Given the description of an element on the screen output the (x, y) to click on. 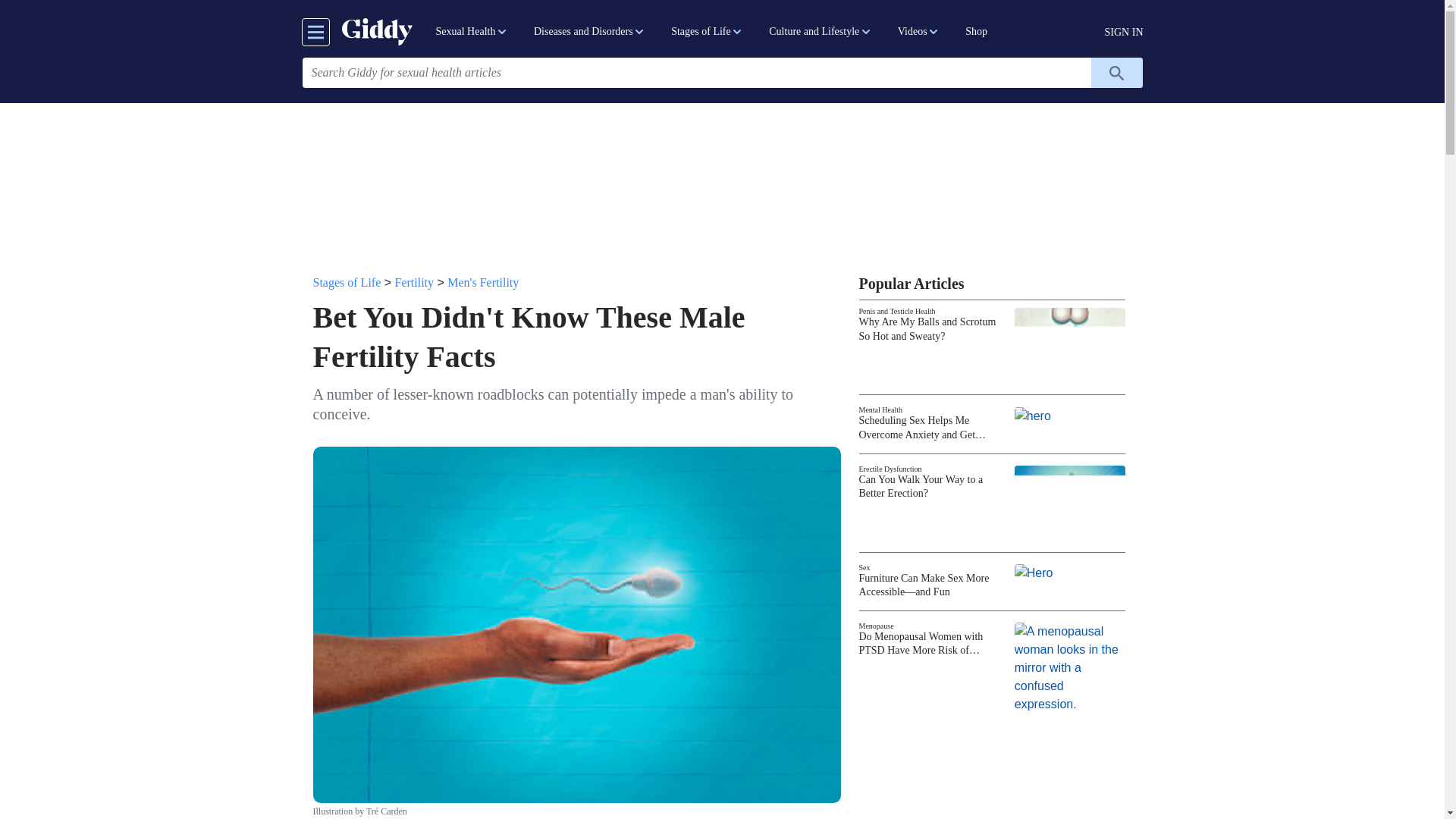
My Account (1123, 31)
Sexual Health (472, 31)
Home (376, 31)
